Given the description of an element on the screen output the (x, y) to click on. 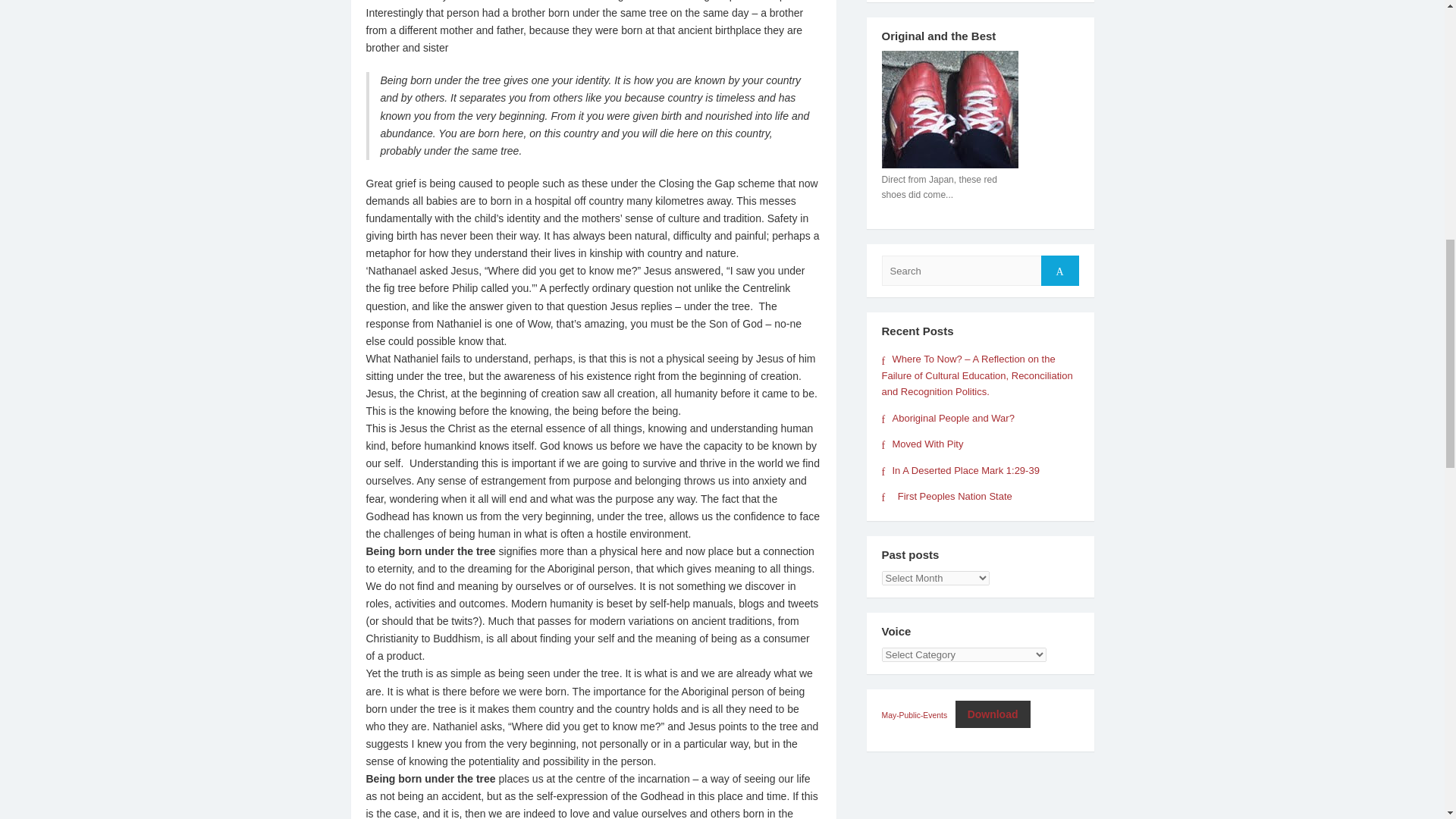
Moved With Pity (921, 443)
Search (1059, 270)
In A Deserted Place Mark 1:29-39 (959, 470)
Aboriginal People and War? (946, 418)
May-Public-Events (913, 715)
Download (992, 714)
  First Peoples Nation State (945, 496)
